Given the description of an element on the screen output the (x, y) to click on. 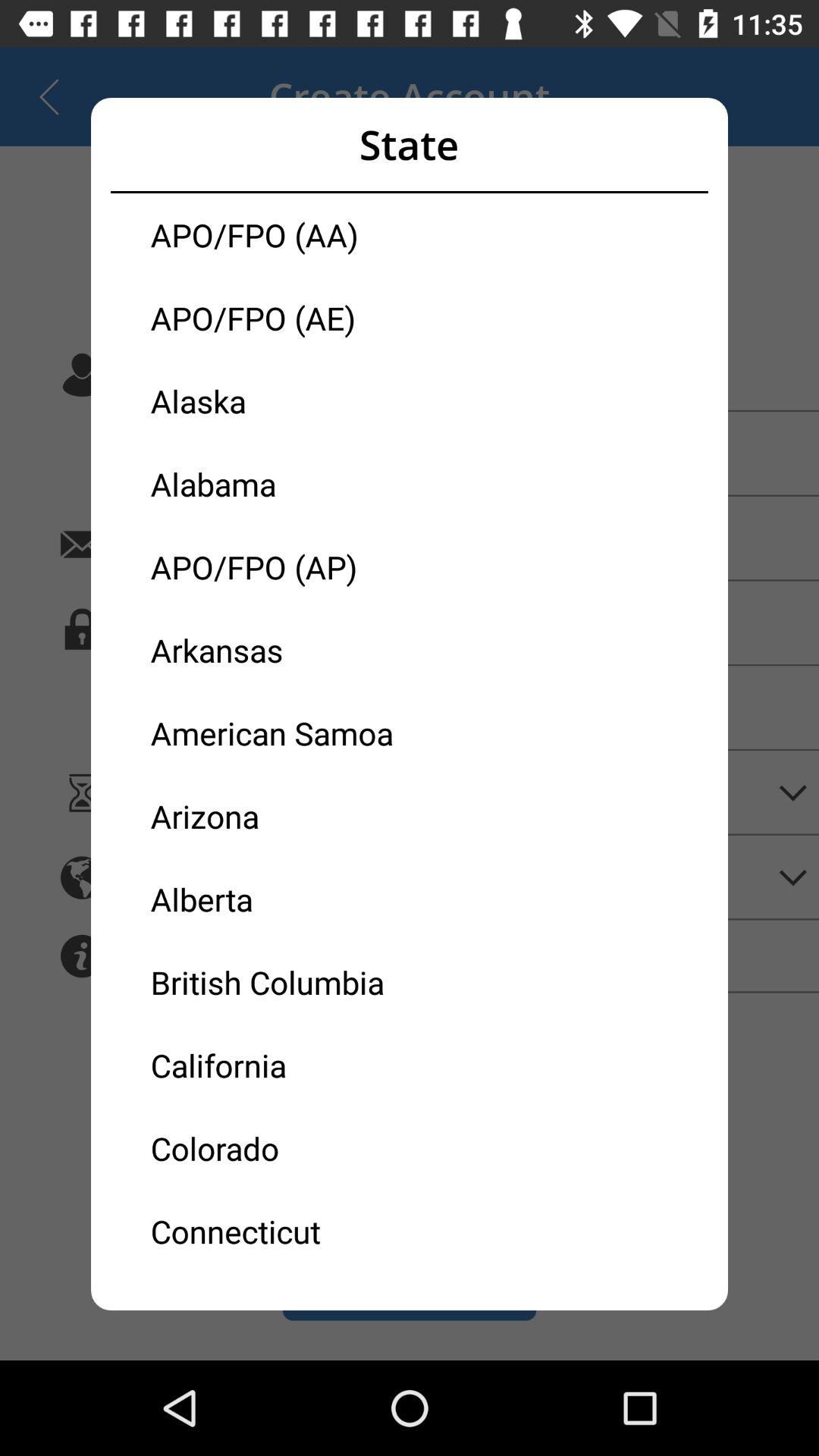
turn on the arizona icon (279, 815)
